Given the description of an element on the screen output the (x, y) to click on. 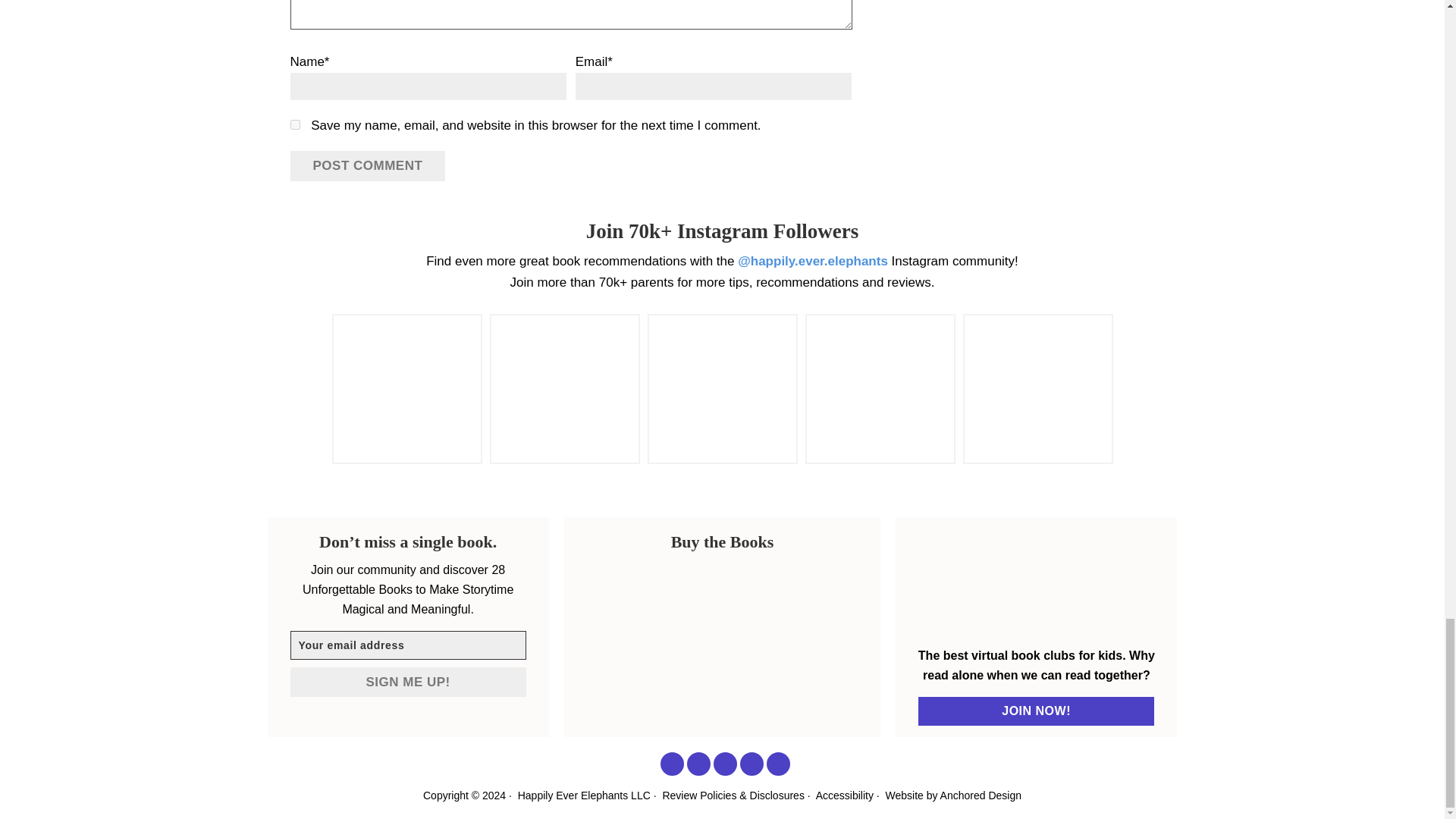
yes (294, 124)
Post Comment (367, 165)
